Given the description of an element on the screen output the (x, y) to click on. 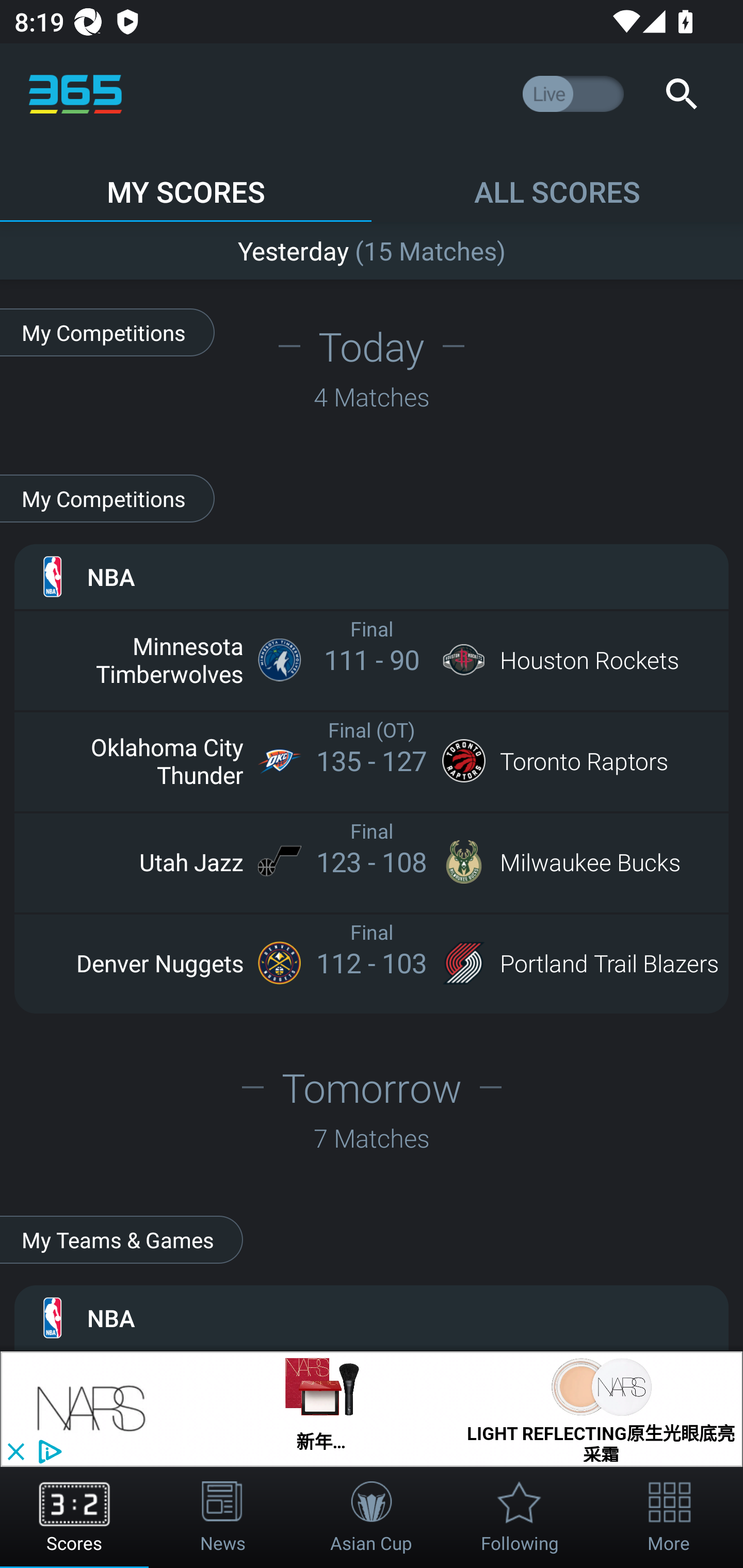
Search (681, 93)
MY SCORES (185, 182)
ALL SCORES (557, 182)
RB Leipzig 2 - 0 Union Berlin (371, 246)
NBA (371, 576)
Utah Jazz Final 123 - 108 Milwaukee Bucks (371, 861)
NBA (371, 1317)
 新年… 
    新年限量版LIGHT REFLECTING原生光蜜粉餅組合 (321, 1409)
 LIGHT REFLECTING原生光眼底亮采霜 
    LIGHT REFLECTING… (600, 1409)
close_button (14, 1452)
privacy_small (47, 1452)
News (222, 1517)
Asian Cup (371, 1517)
Following (519, 1517)
More (668, 1517)
